Given the description of an element on the screen output the (x, y) to click on. 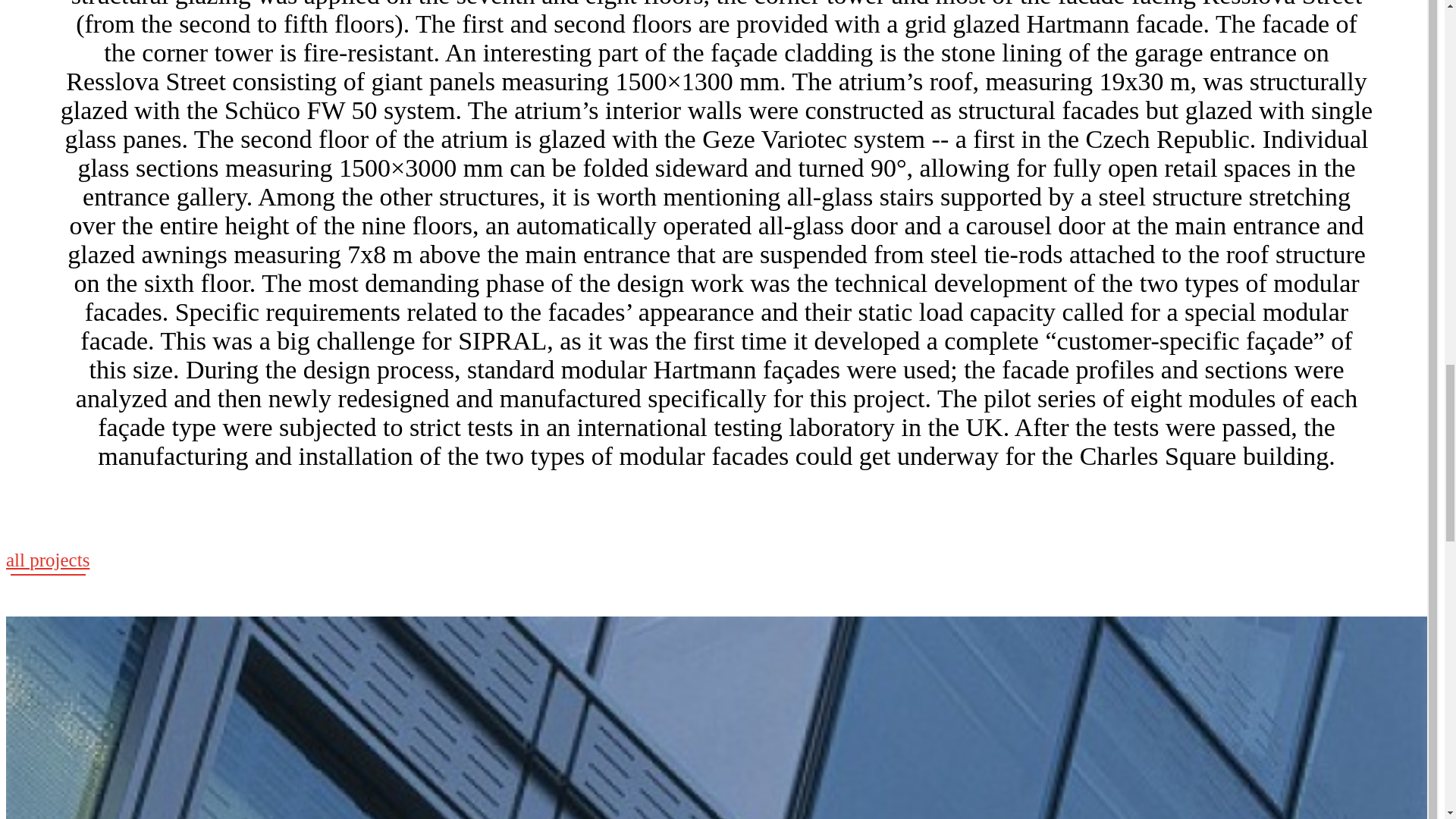
all projects (46, 562)
